Given the description of an element on the screen output the (x, y) to click on. 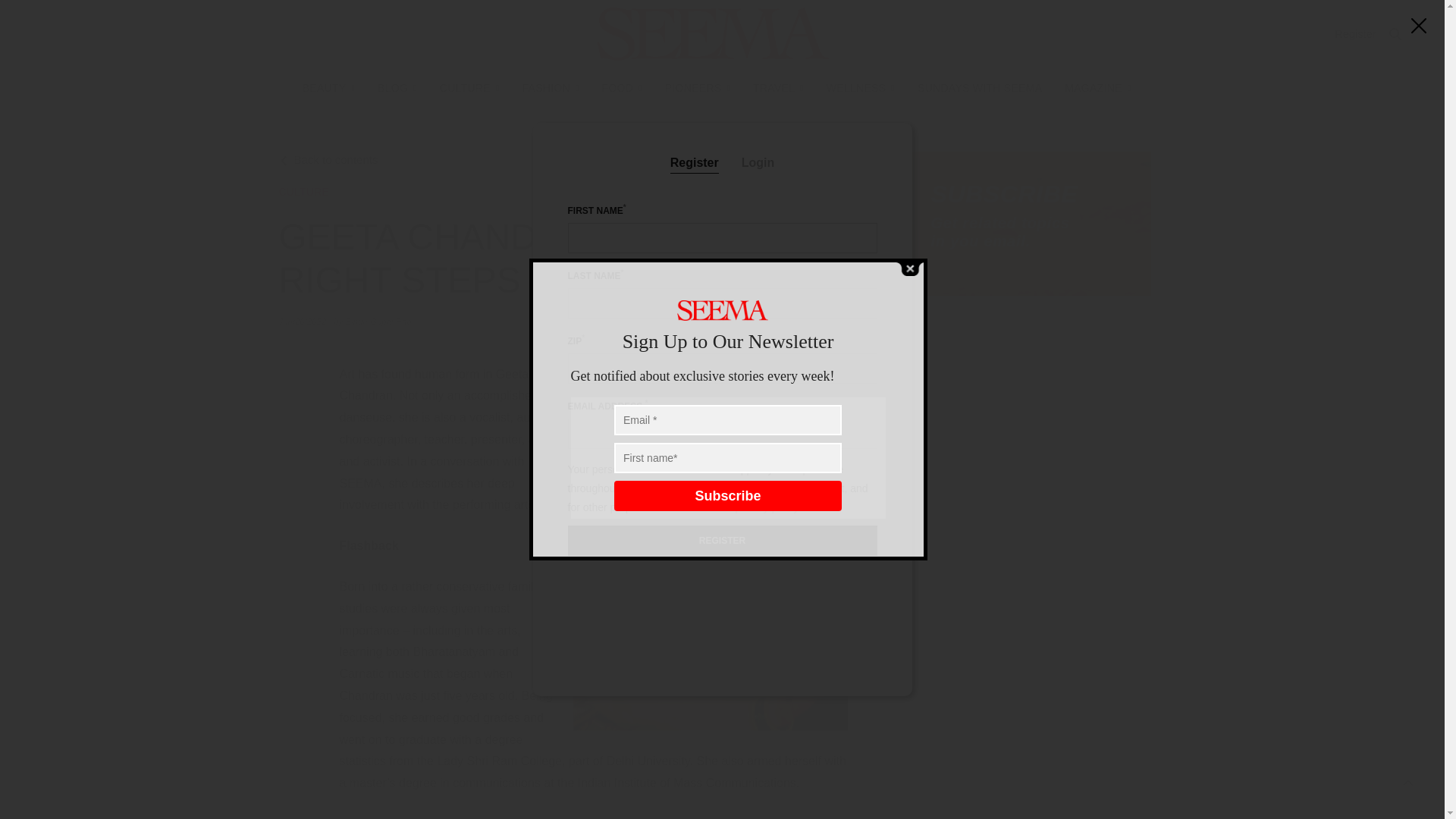
Seema (712, 33)
WELLNESS (861, 87)
BEAUTY (328, 87)
CULTURE (469, 87)
BLOG (396, 87)
Subscribe (727, 495)
Register (1355, 33)
TRAVEL (777, 87)
Close (909, 268)
SUNDAYS WITH SEEMA (979, 87)
MAGAZINE (1097, 87)
FOOD (622, 87)
PIONEERS (697, 87)
FASHION (549, 87)
Scroll To Top (1408, 782)
